Given the description of an element on the screen output the (x, y) to click on. 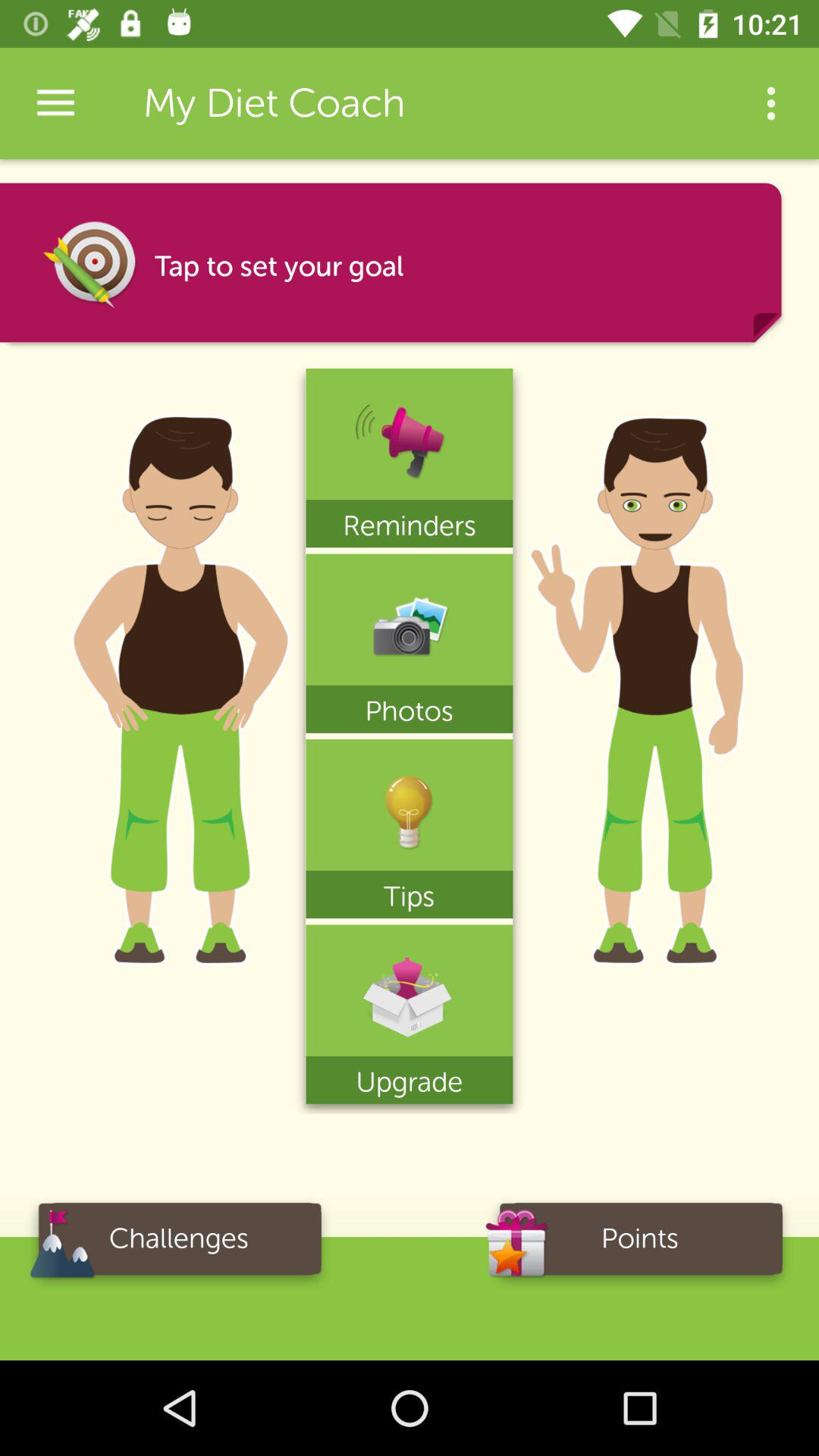
choose the challenges (178, 1243)
